Given the description of an element on the screen output the (x, y) to click on. 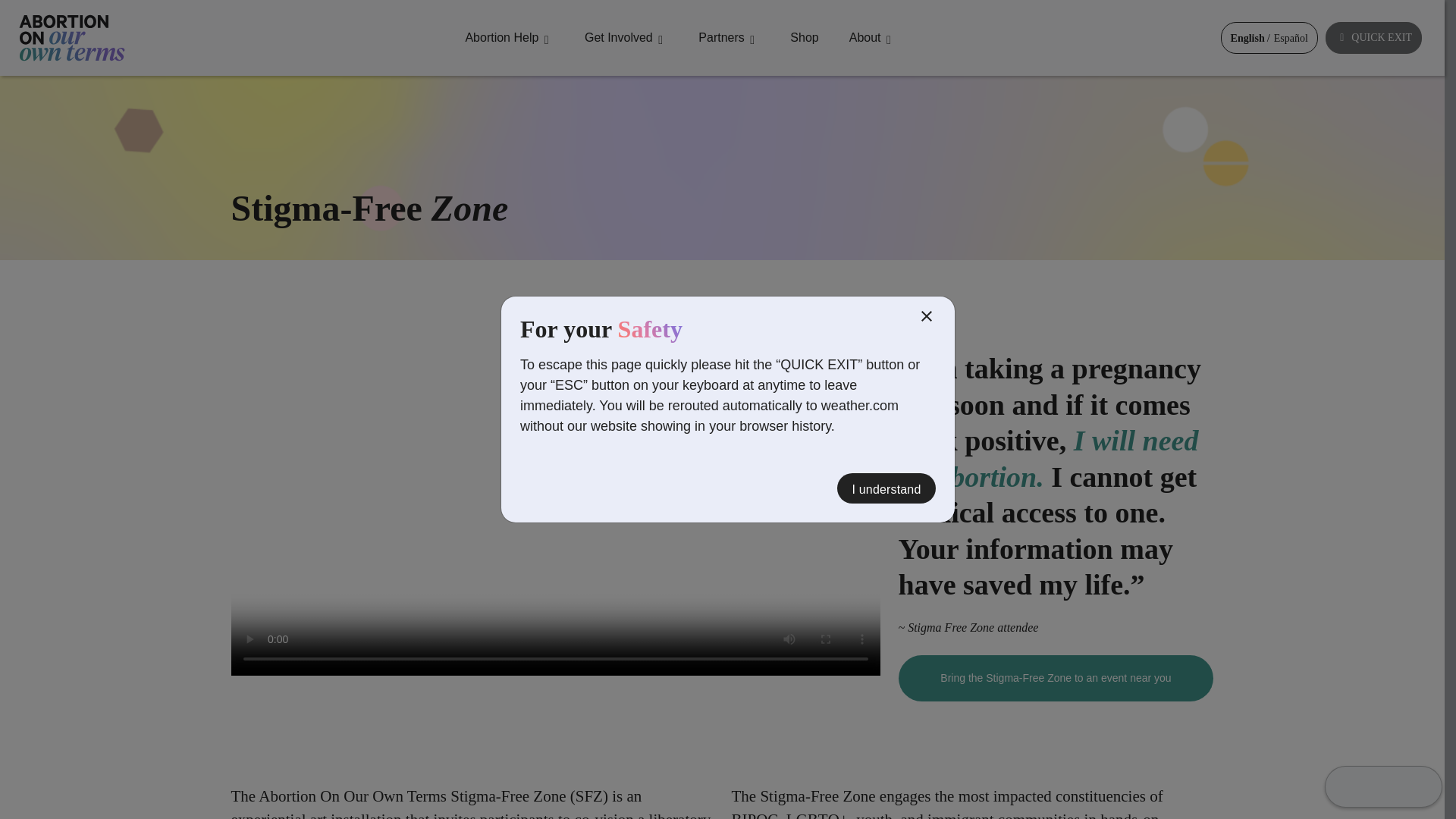
English (1246, 37)
About (872, 37)
Abortion Help (509, 37)
Partners (728, 37)
QUICK EXIT (1373, 38)
Shop (803, 37)
Get Involved (625, 37)
